Given the description of an element on the screen output the (x, y) to click on. 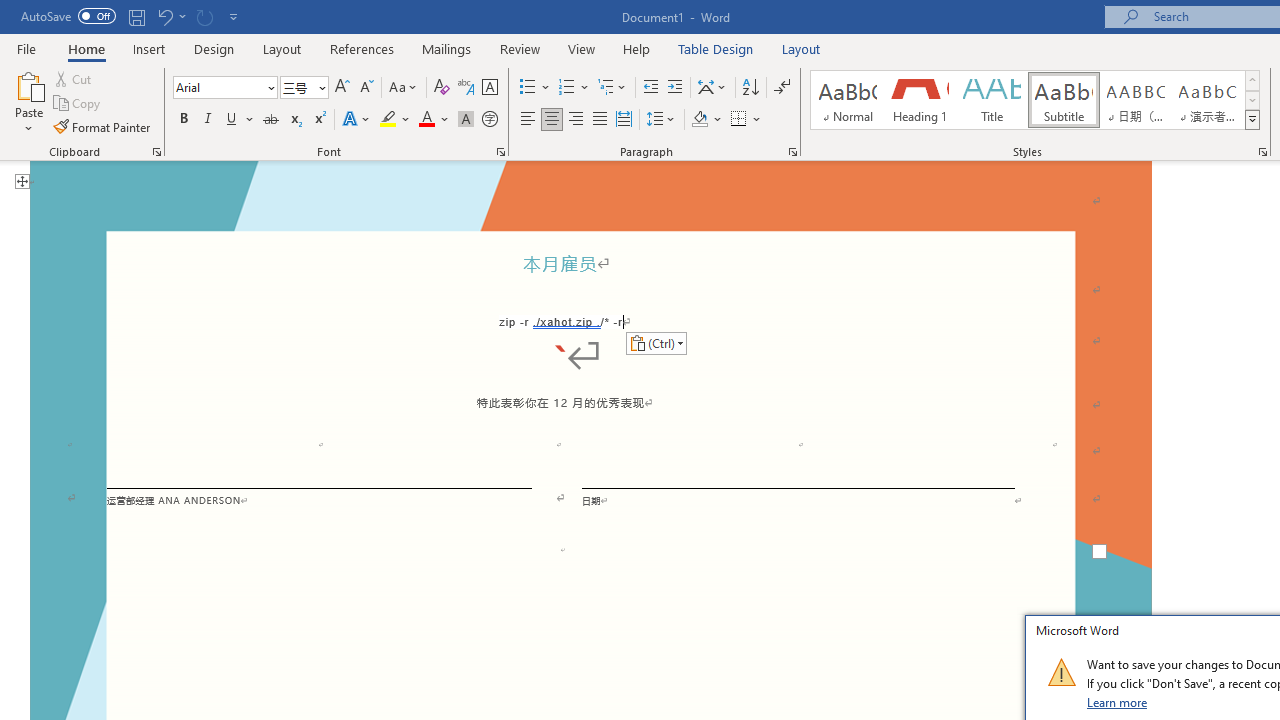
Undo Paste (164, 15)
